Given the description of an element on the screen output the (x, y) to click on. 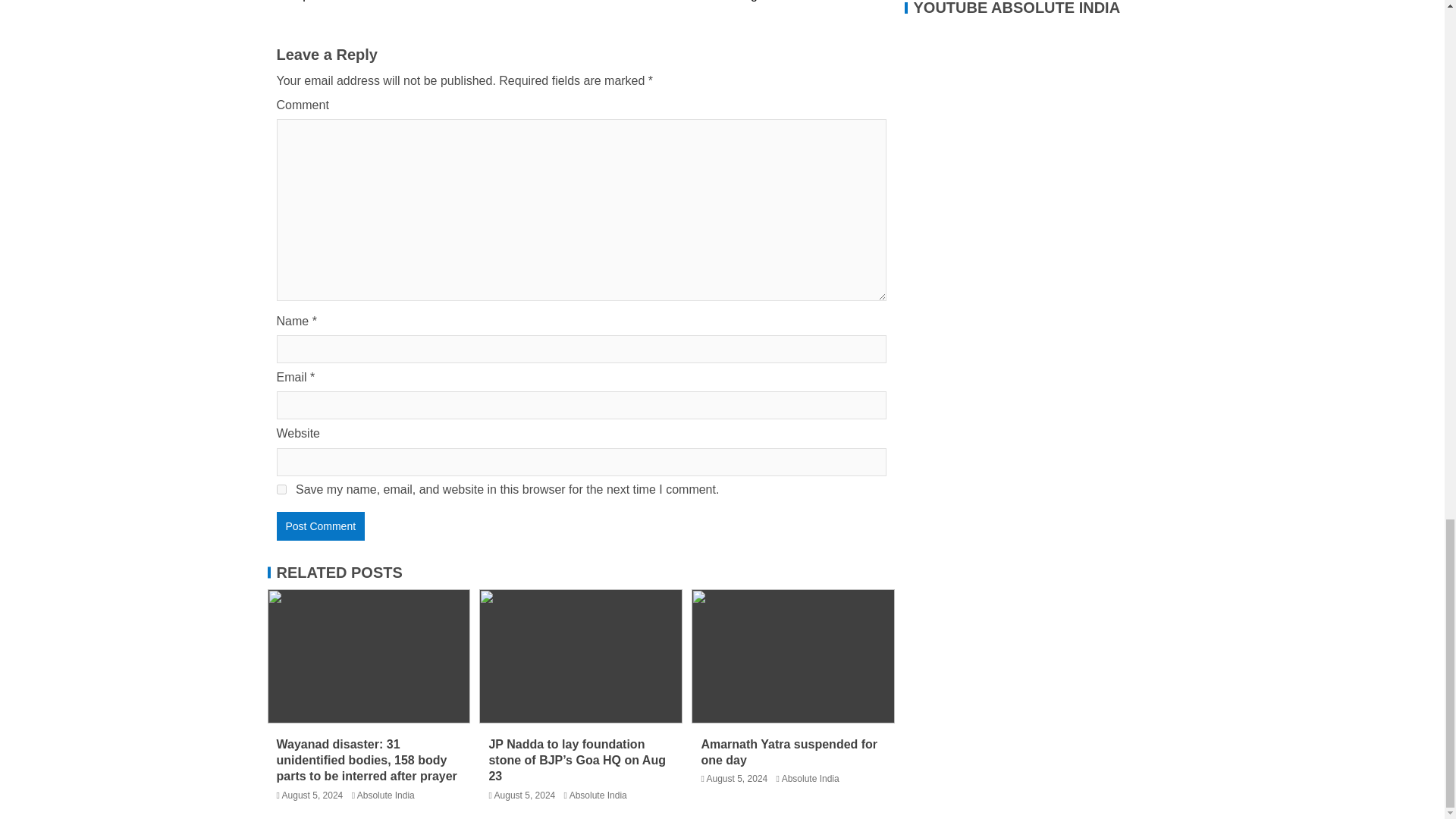
Post Comment (320, 525)
yes (280, 489)
